Given the description of an element on the screen output the (x, y) to click on. 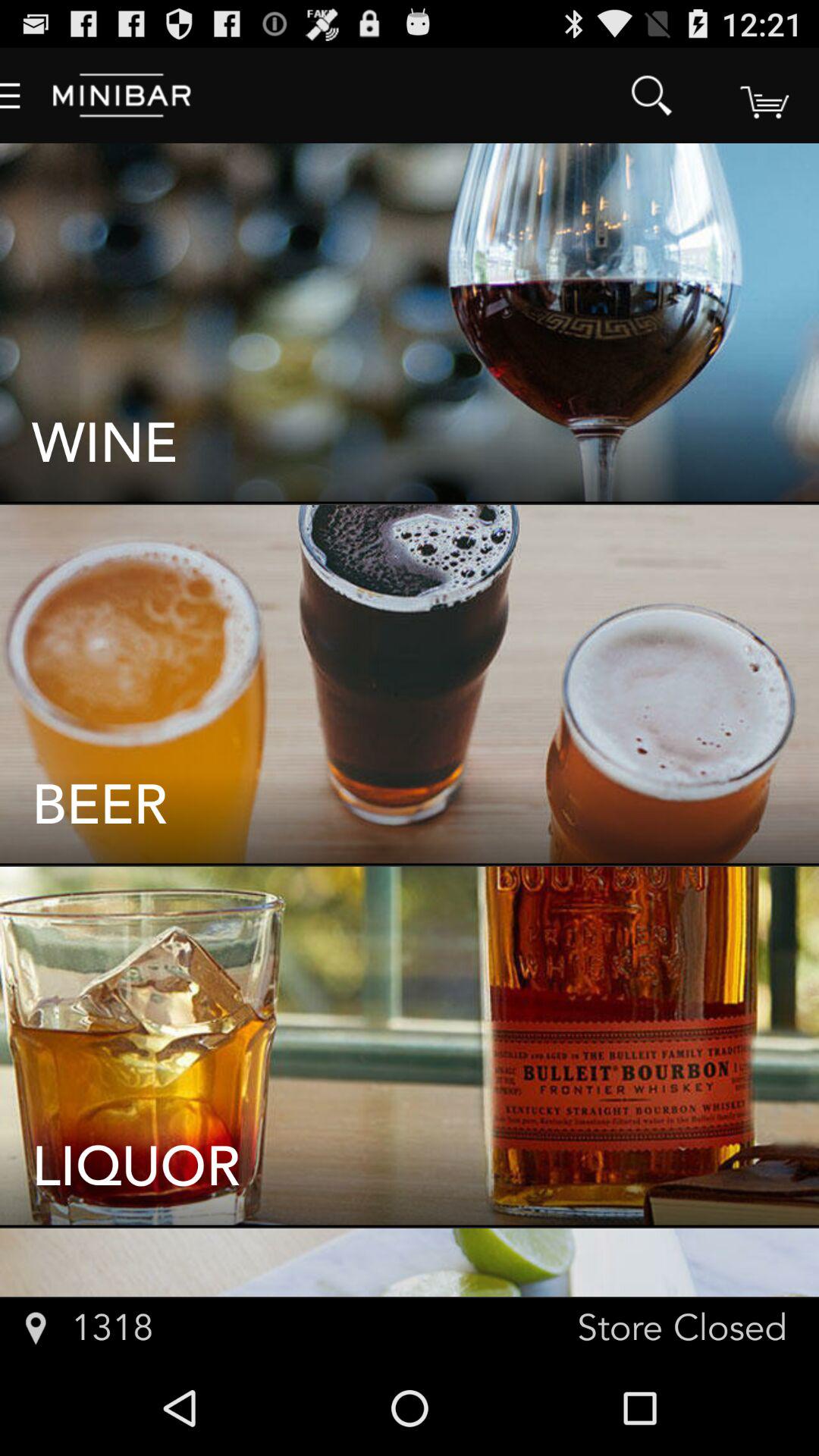
share of article (763, 95)
